Given the description of an element on the screen output the (x, y) to click on. 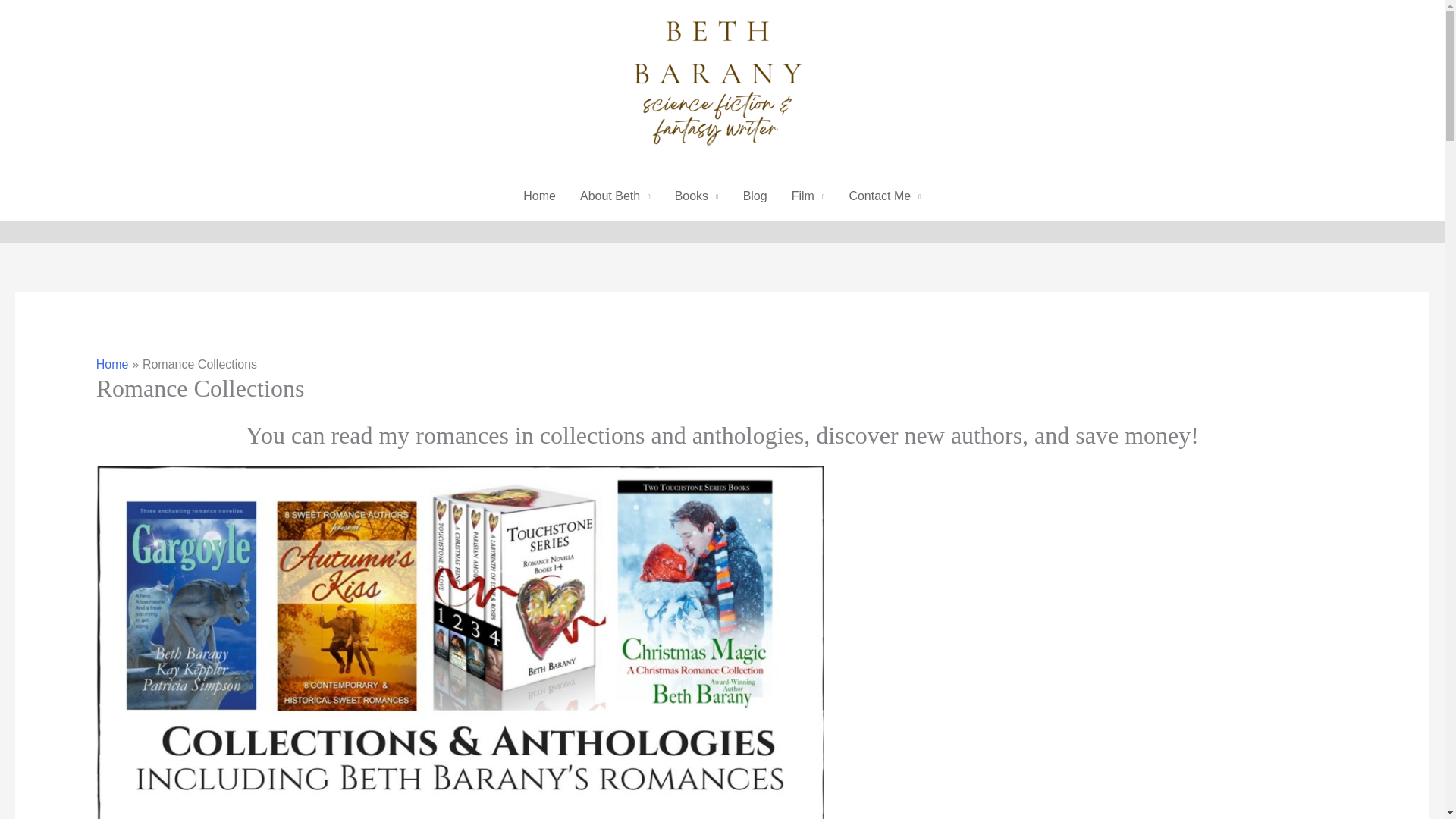
Home (112, 364)
Film (807, 195)
Stories by Beth Barany (696, 195)
Home (539, 195)
About Beth (614, 195)
Henrietta Short Film (807, 195)
Contact Me (884, 195)
Books (696, 195)
Blog (754, 195)
